Given the description of an element on the screen output the (x, y) to click on. 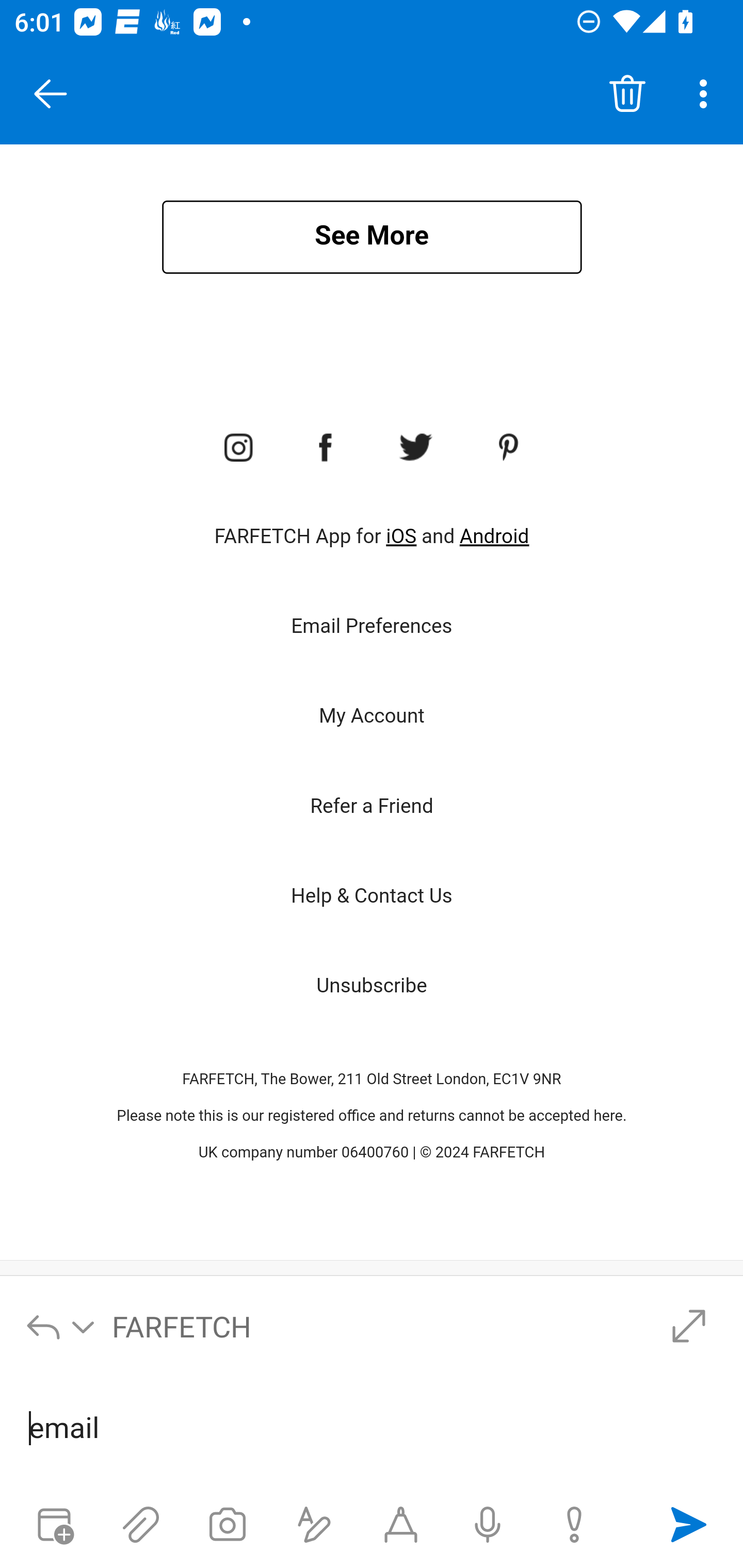
Close (50, 93)
Delete (626, 93)
More options (706, 93)
See More (371, 236)
image (237, 447)
image (326, 447)
image (415, 447)
image (509, 447)
iOS (400, 535)
Android (494, 535)
Email Preferences (371, 626)
My Account (371, 716)
Refer a Friend (371, 806)
Help & Contact Us (371, 896)
Unsubscribe (371, 985)
Reply options (61, 1325)
Open in full screen view (688, 1325)

email (372, 1428)
Attach meeting (54, 1524)
Attach files (140, 1524)
Take a photo (227, 1524)
Show formatting options (314, 1524)
Start Ink compose (400, 1524)
Dictation (487, 1524)
Importance (574, 1524)
Send (688, 1524)
